Given the description of an element on the screen output the (x, y) to click on. 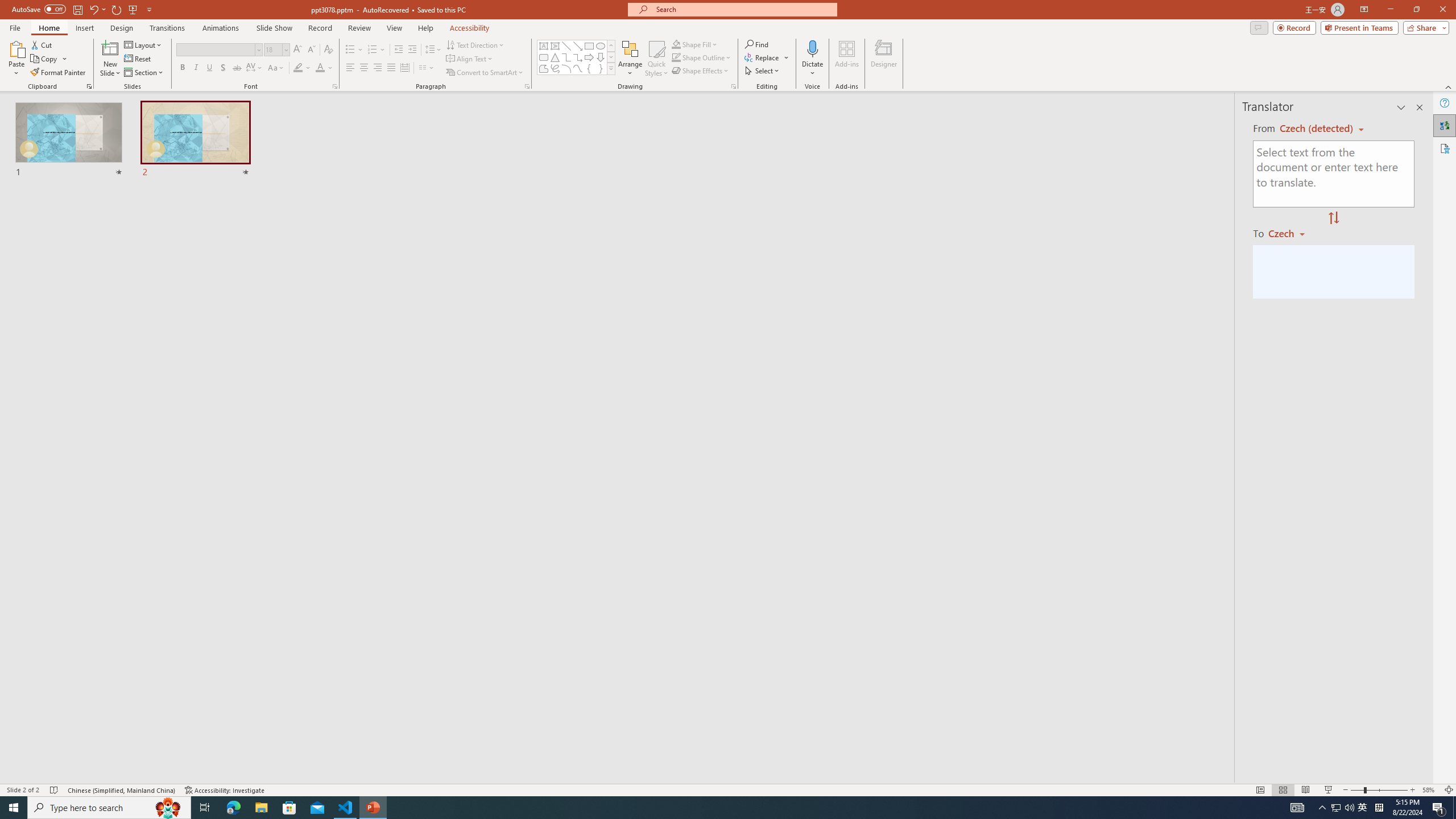
Animations (220, 28)
Shape Effects (700, 69)
Copy (49, 58)
Line Arrow (577, 45)
Section (144, 72)
Shape Fill Dark Green, Accent 2 (675, 44)
Close pane (1419, 107)
Office Clipboard... (88, 85)
Zoom 58% (1430, 790)
Zoom to Fit  (1449, 790)
Review (359, 28)
Insert (83, 28)
Decrease Indent (398, 49)
